Given the description of an element on the screen output the (x, y) to click on. 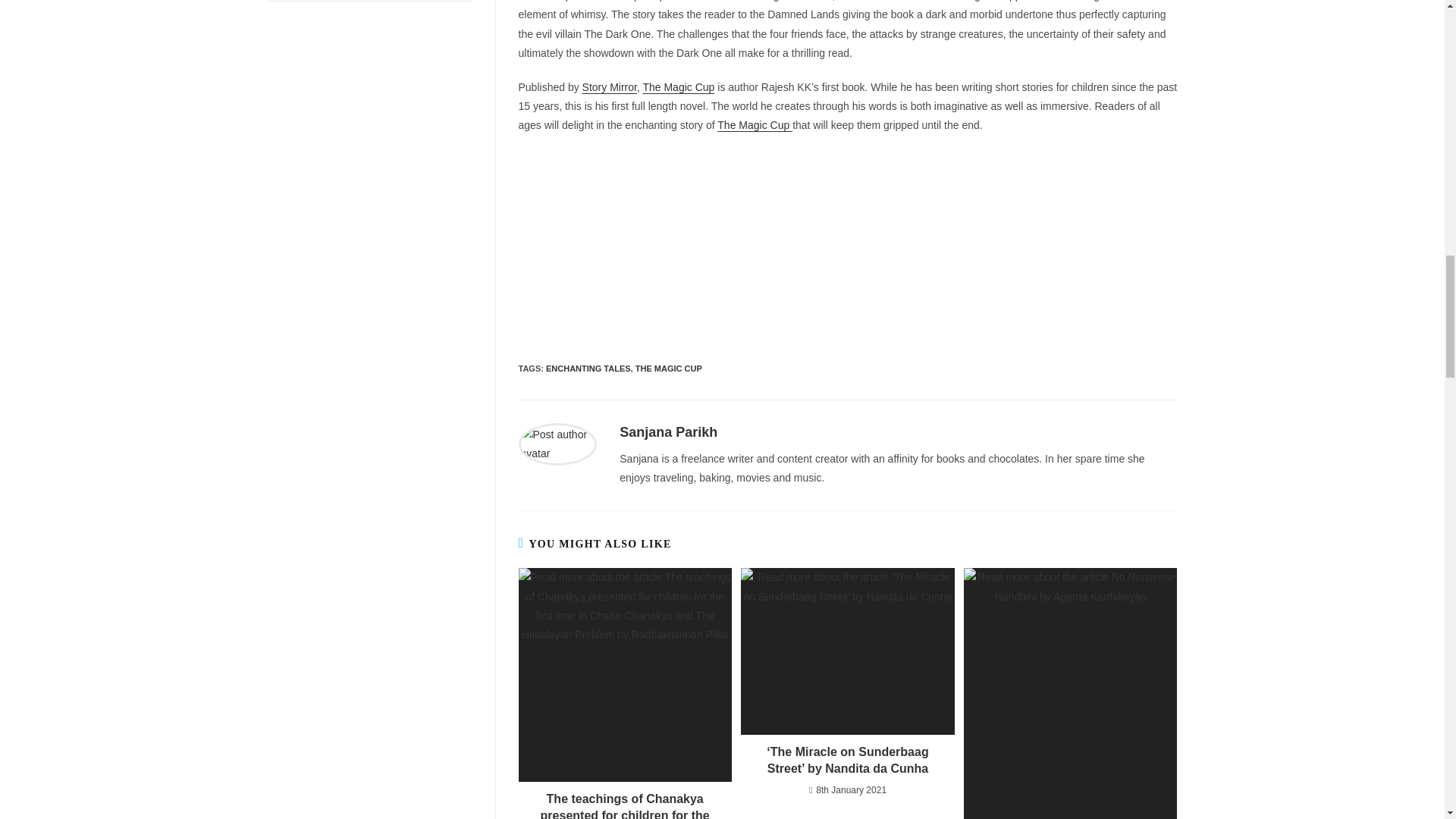
Story Mirror (609, 87)
The Magic Cup (754, 124)
Visit author page (668, 432)
THE MAGIC CUP (667, 368)
The Magic Cup (678, 87)
Visit author page (557, 442)
Sanjana Parikh (668, 432)
ENCHANTING TALES (588, 368)
